Given the description of an element on the screen output the (x, y) to click on. 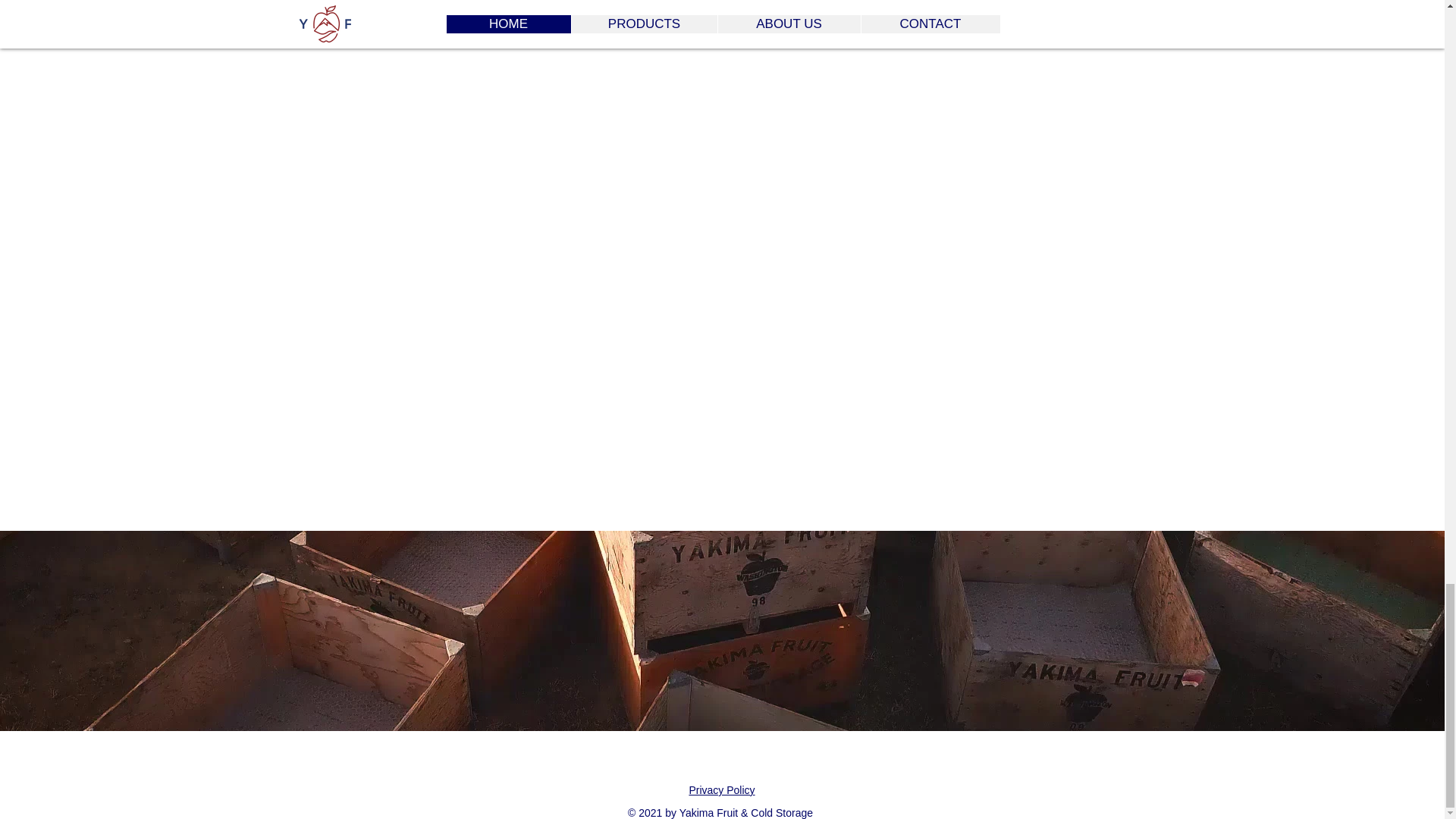
Privacy Policy (721, 789)
